Given the description of an element on the screen output the (x, y) to click on. 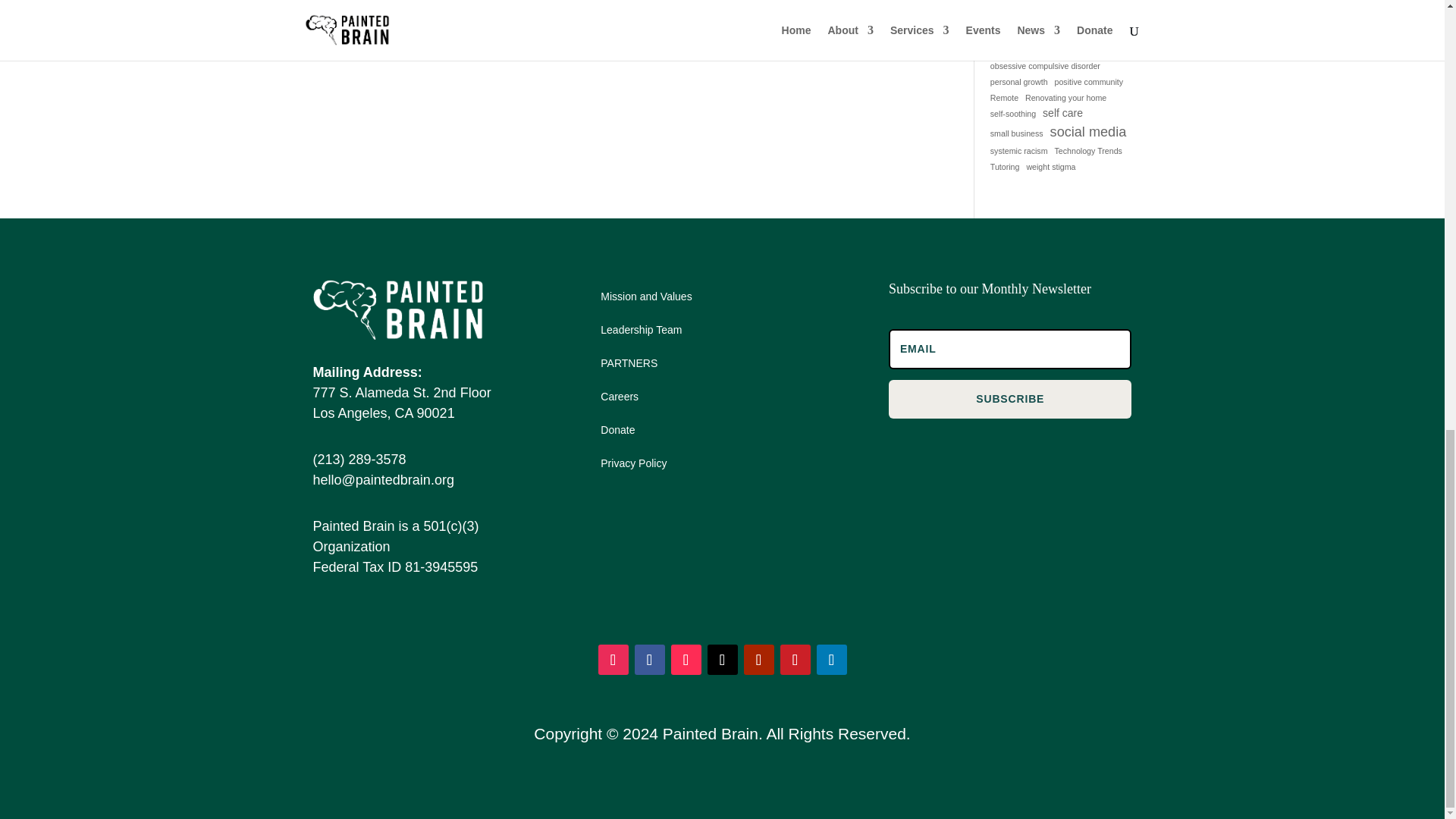
Follow on Pinterest (793, 659)
Follow on X (721, 659)
Follow on Instagram (611, 659)
Follow on TikTok (684, 659)
painted-brain-logo2 (397, 310)
Follow on Facebook (648, 659)
Follow on LinkedIn (830, 659)
Follow on Youtube (757, 659)
